Given the description of an element on the screen output the (x, y) to click on. 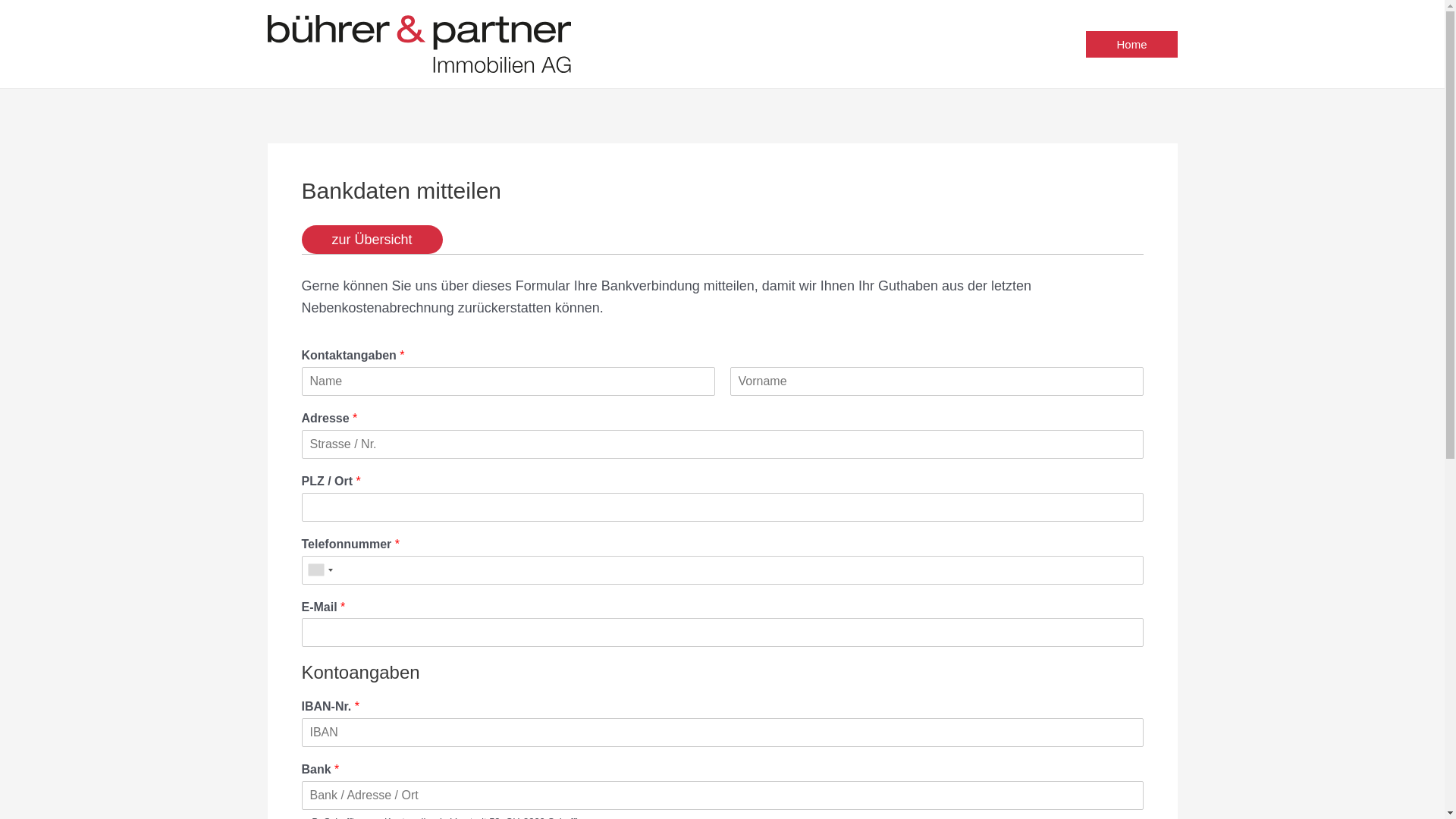
Home Element type: text (1130, 43)
